Given the description of an element on the screen output the (x, y) to click on. 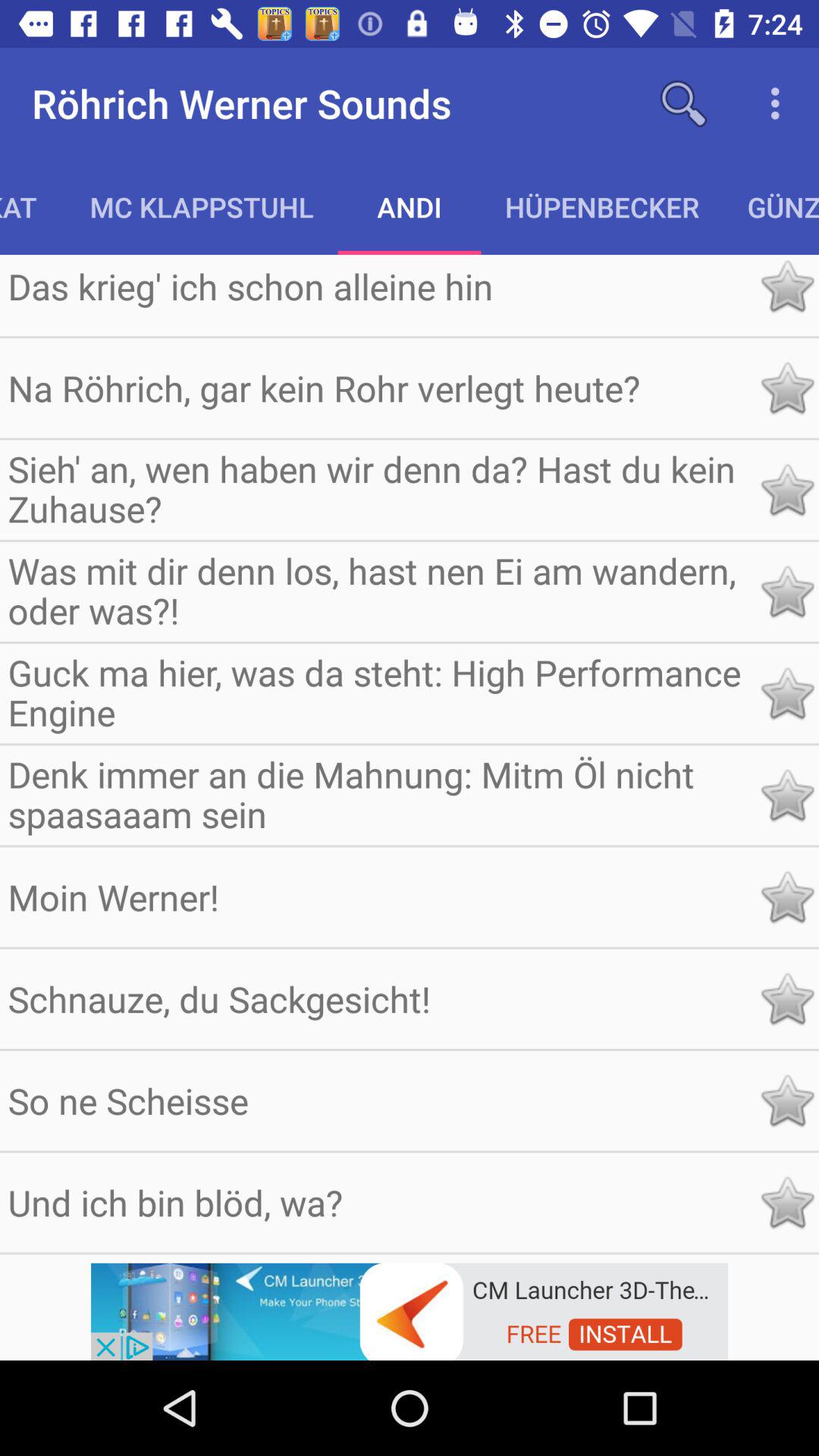
favorite sound (787, 1100)
